Given the description of an element on the screen output the (x, y) to click on. 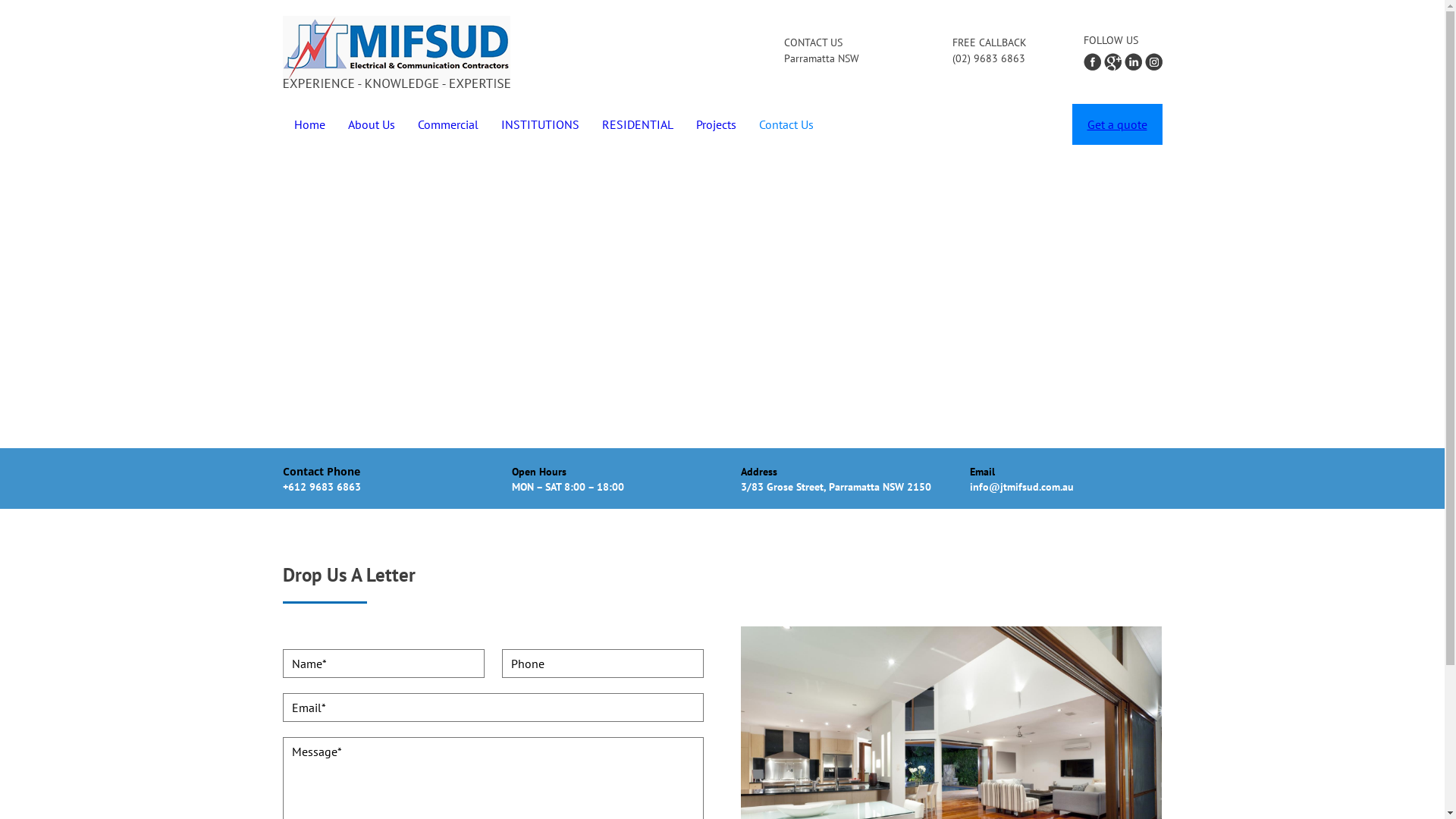
Get a quote Element type: text (1117, 123)
Commercial Element type: text (447, 123)
Projects Element type: text (716, 123)
Contact Us Element type: text (785, 123)
Home Element type: text (309, 123)
INSTITUTIONS Element type: text (539, 123)
RESIDENTIAL Element type: text (637, 123)
About Us Element type: text (370, 123)
